Given the description of an element on the screen output the (x, y) to click on. 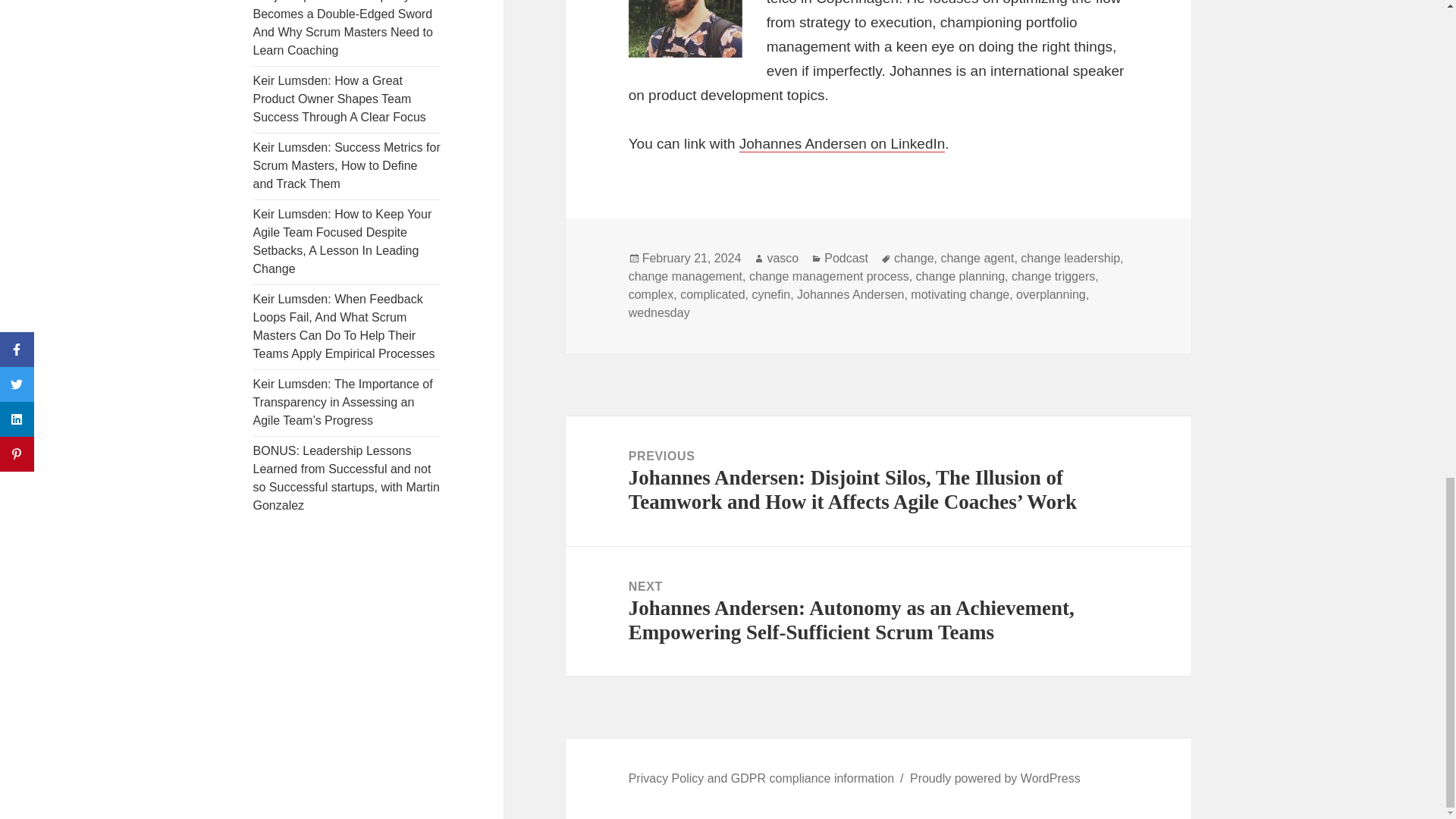
Johannes Andersen on LinkedIn (841, 143)
change leadership (1069, 258)
Podcast (845, 258)
vasco (782, 258)
change management process (828, 276)
change management (685, 276)
